Given the description of an element on the screen output the (x, y) to click on. 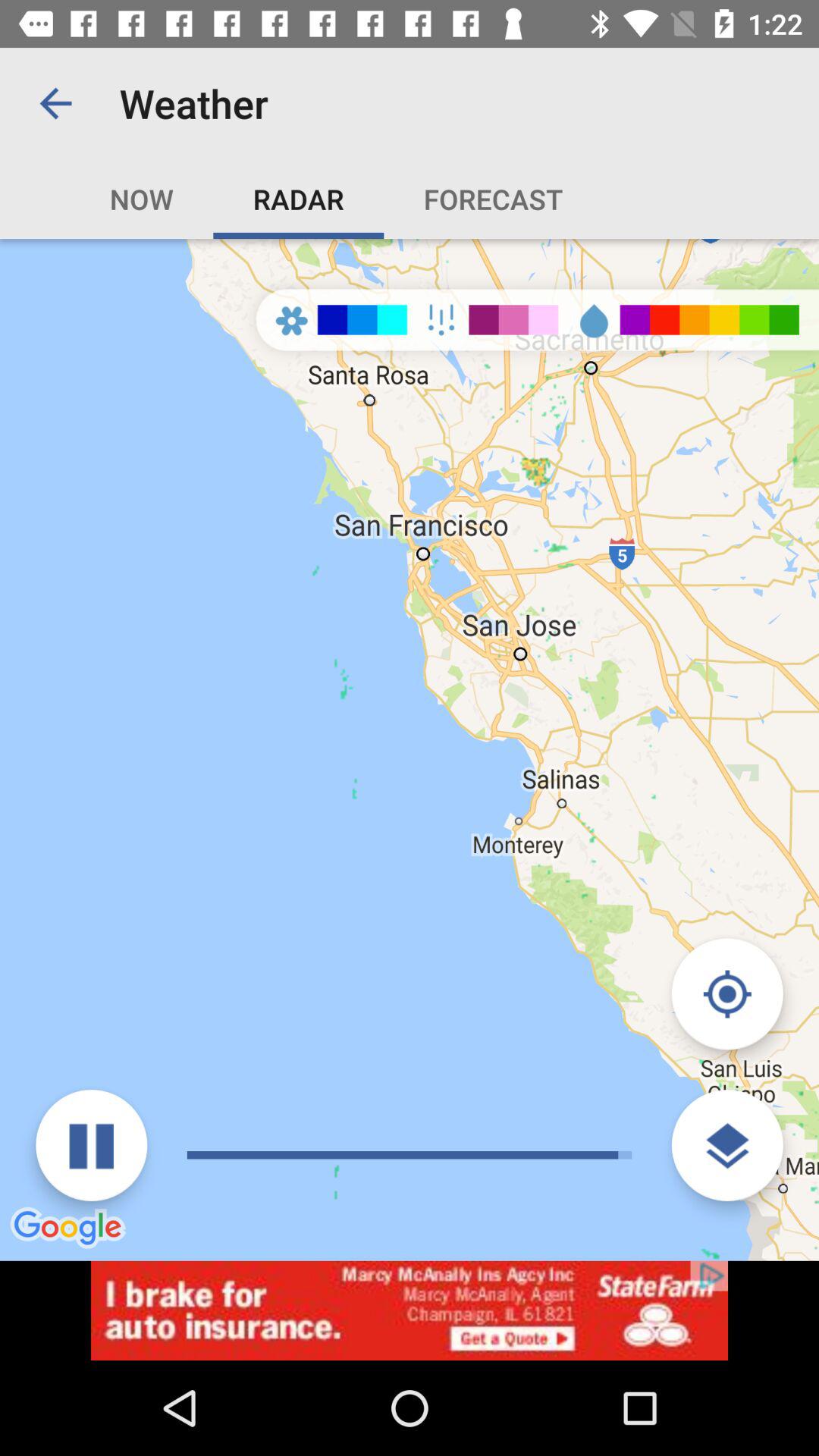
pause newscasts (91, 1145)
